Given the description of an element on the screen output the (x, y) to click on. 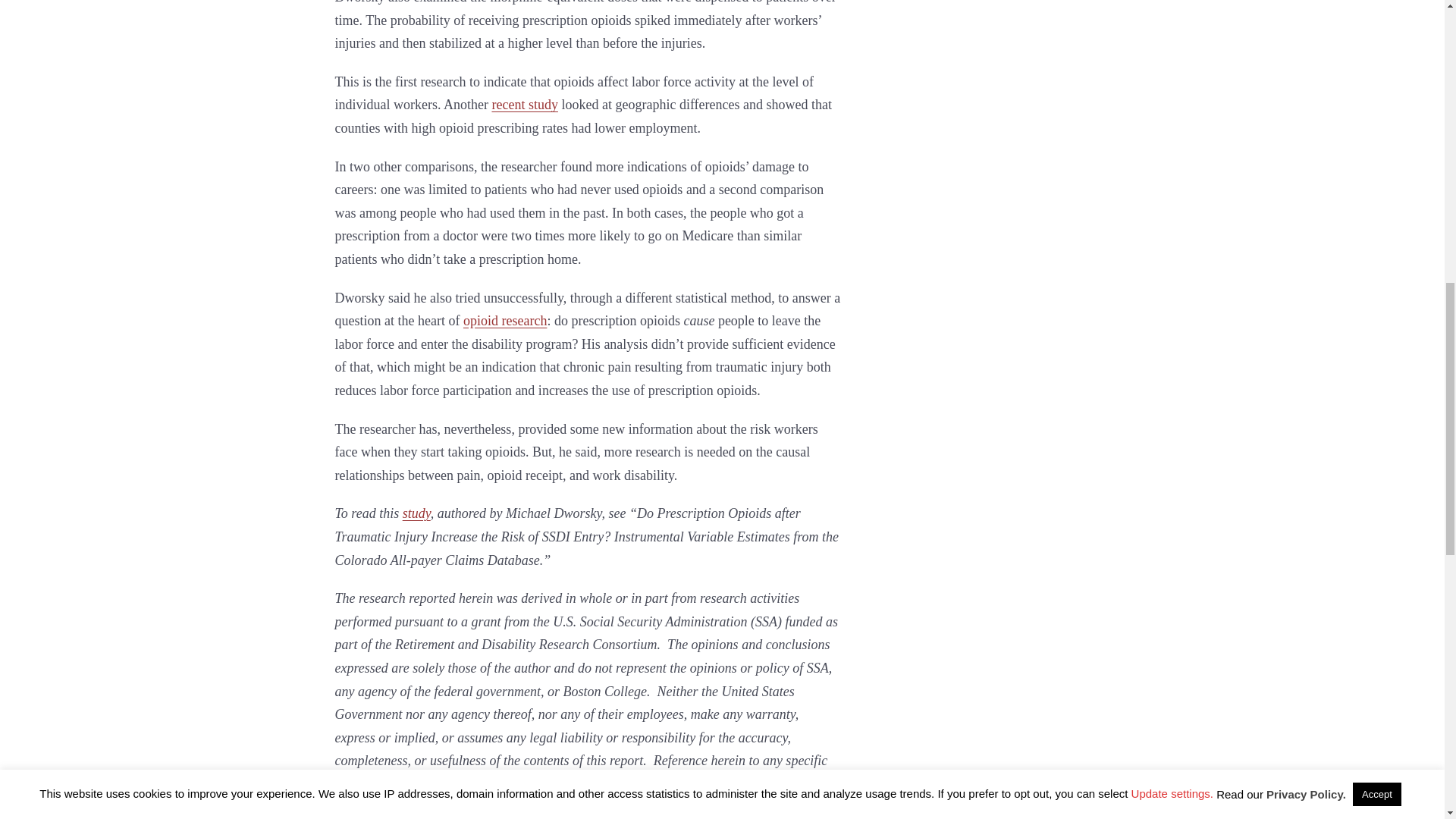
opioid research (505, 320)
study (416, 513)
recent study (524, 104)
